Given the description of an element on the screen output the (x, y) to click on. 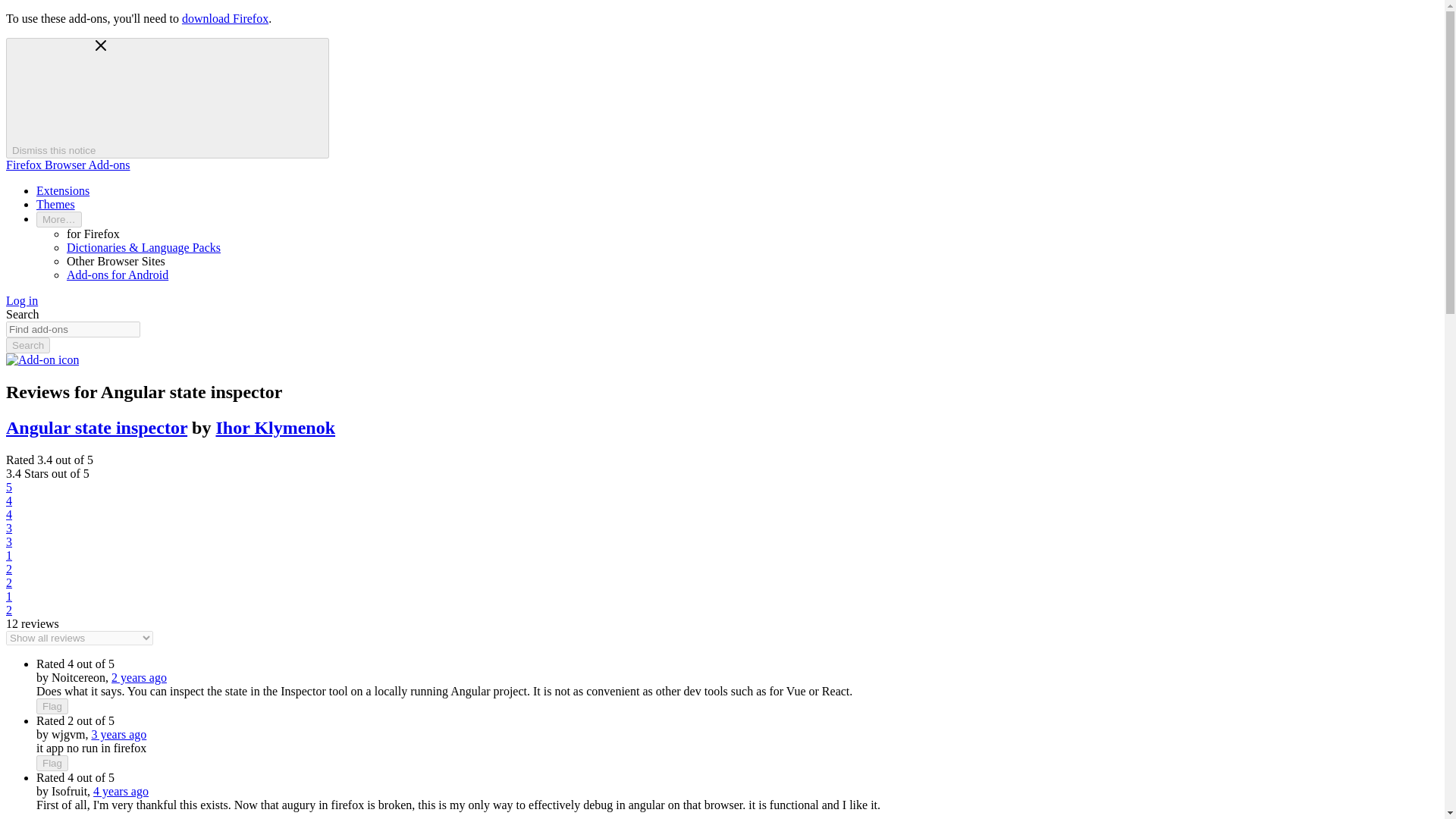
Firefox Browser Add-ons (68, 164)
Themes (55, 204)
Angular state inspector (96, 427)
download Firefox (224, 18)
2 years ago (139, 676)
Log in (21, 300)
Feb 2, 2022 2:58 PM (139, 676)
Flag (52, 763)
Extensions (62, 190)
Flag (52, 706)
4 years ago (120, 790)
3 years ago (118, 734)
Add-ons for Android (117, 274)
Ihor Klymenok (274, 427)
Search (27, 344)
